Given the description of an element on the screen output the (x, y) to click on. 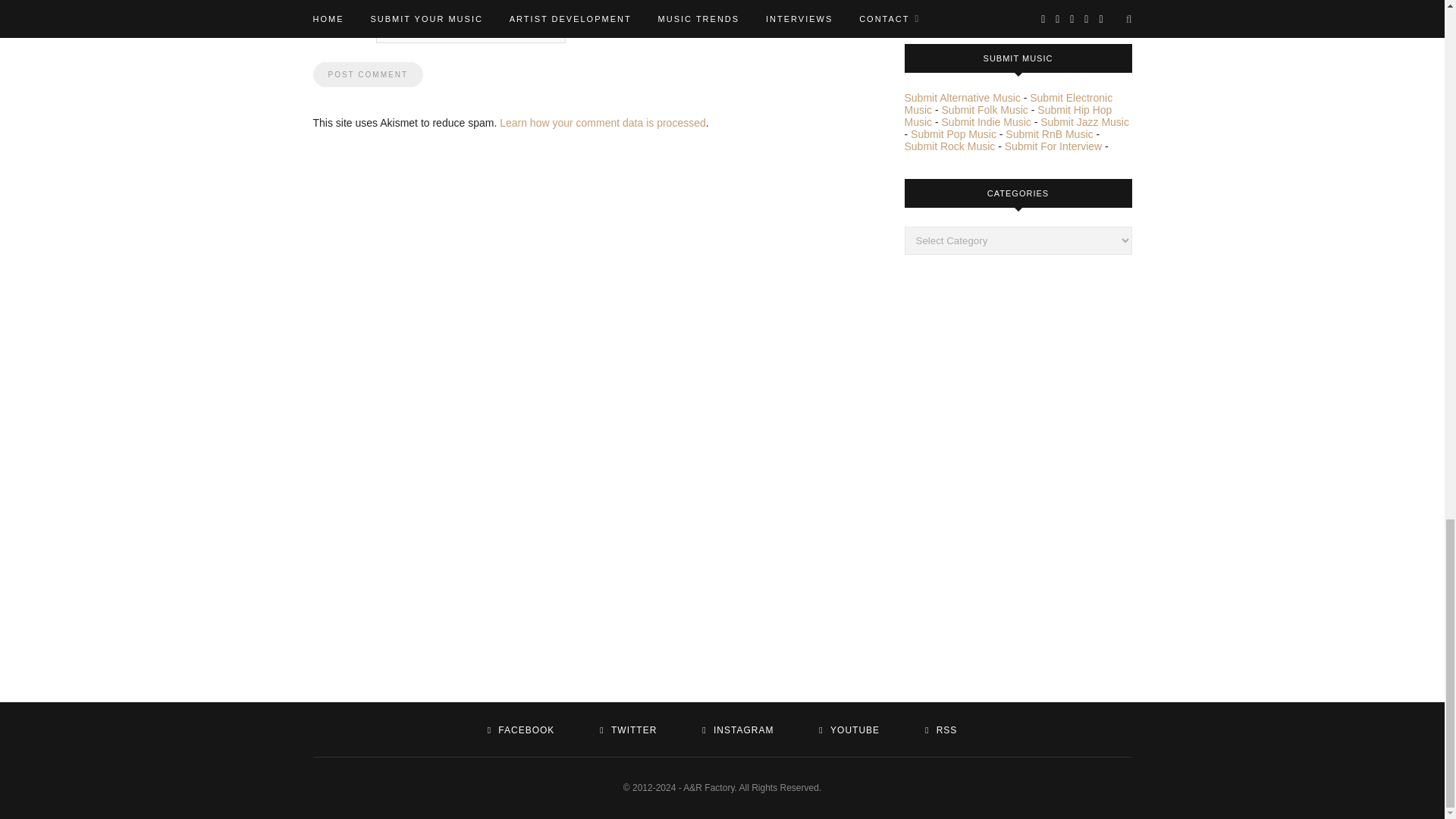
Post Comment (367, 74)
